Given the description of an element on the screen output the (x, y) to click on. 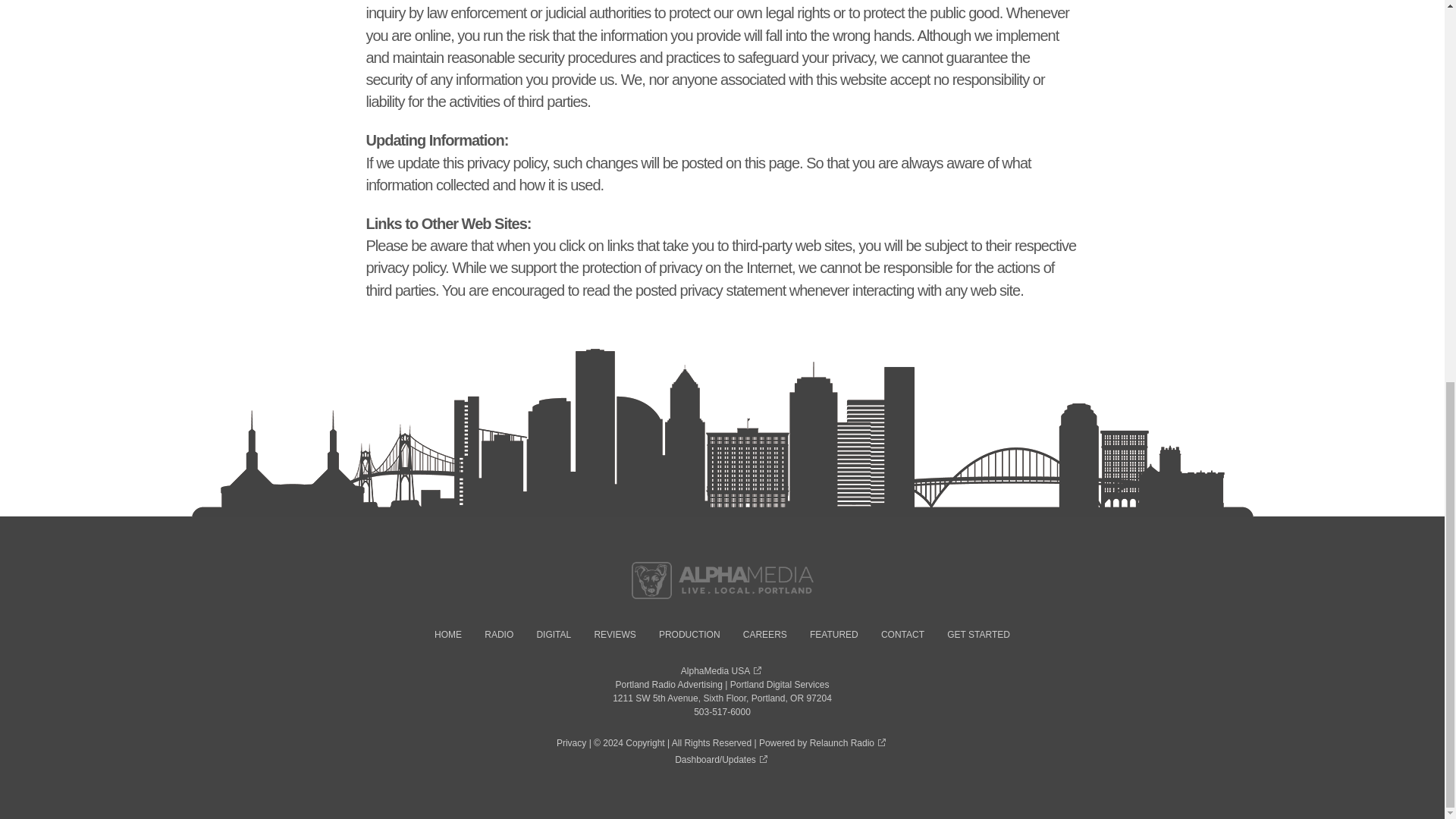
AlphaMedia USA (721, 670)
CAREERS (765, 634)
GET STARTED (978, 634)
Relaunch Radio (848, 742)
HOME (447, 634)
REVIEWS (614, 634)
CONTACT (902, 634)
Privacy (571, 742)
FEATURED (834, 634)
DIGITAL (553, 634)
